Given the description of an element on the screen output the (x, y) to click on. 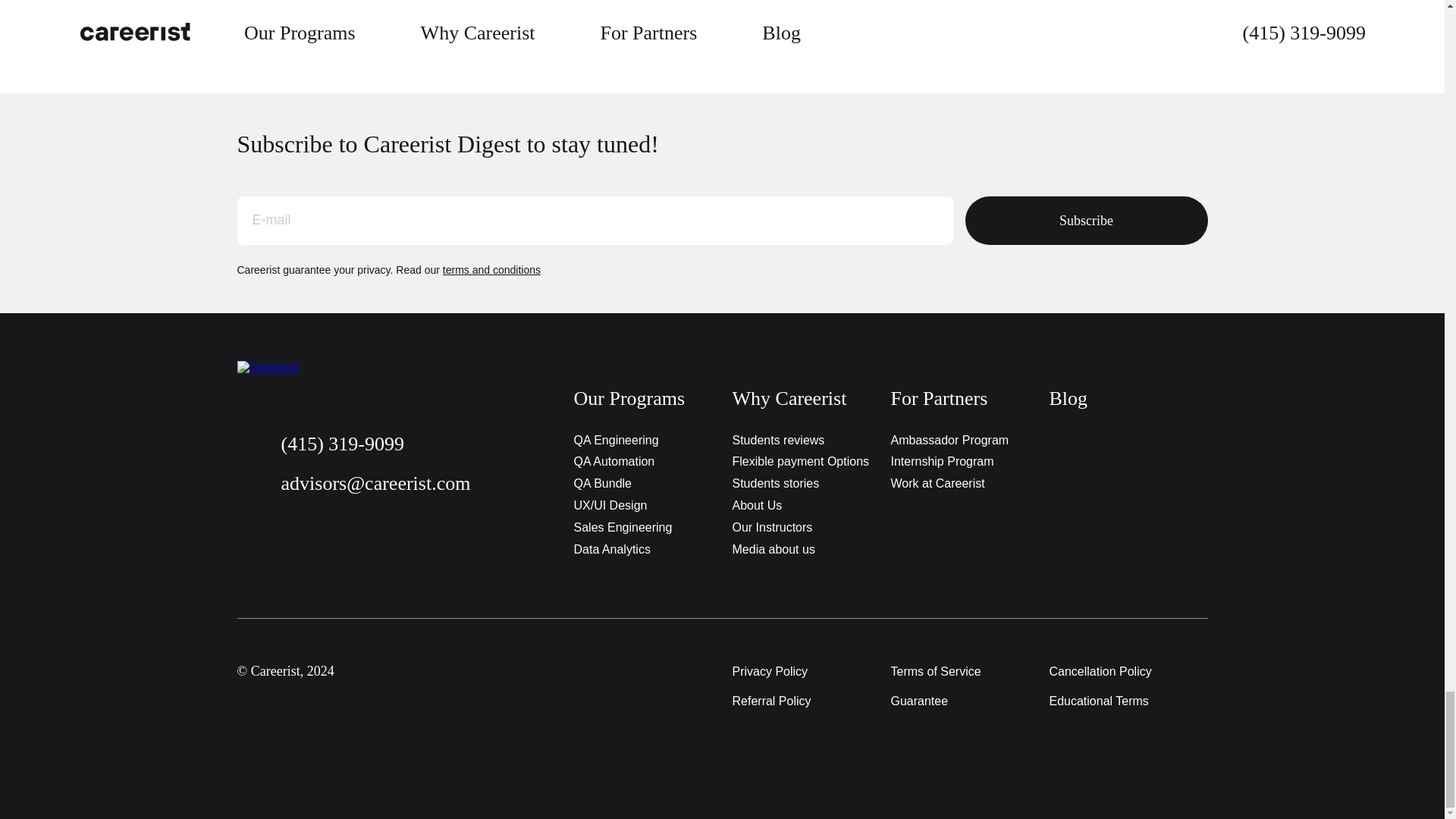
terms and conditions (491, 269)
Subscribe (1085, 220)
Apply for the Manual QA (327, 4)
